Given the description of an element on the screen output the (x, y) to click on. 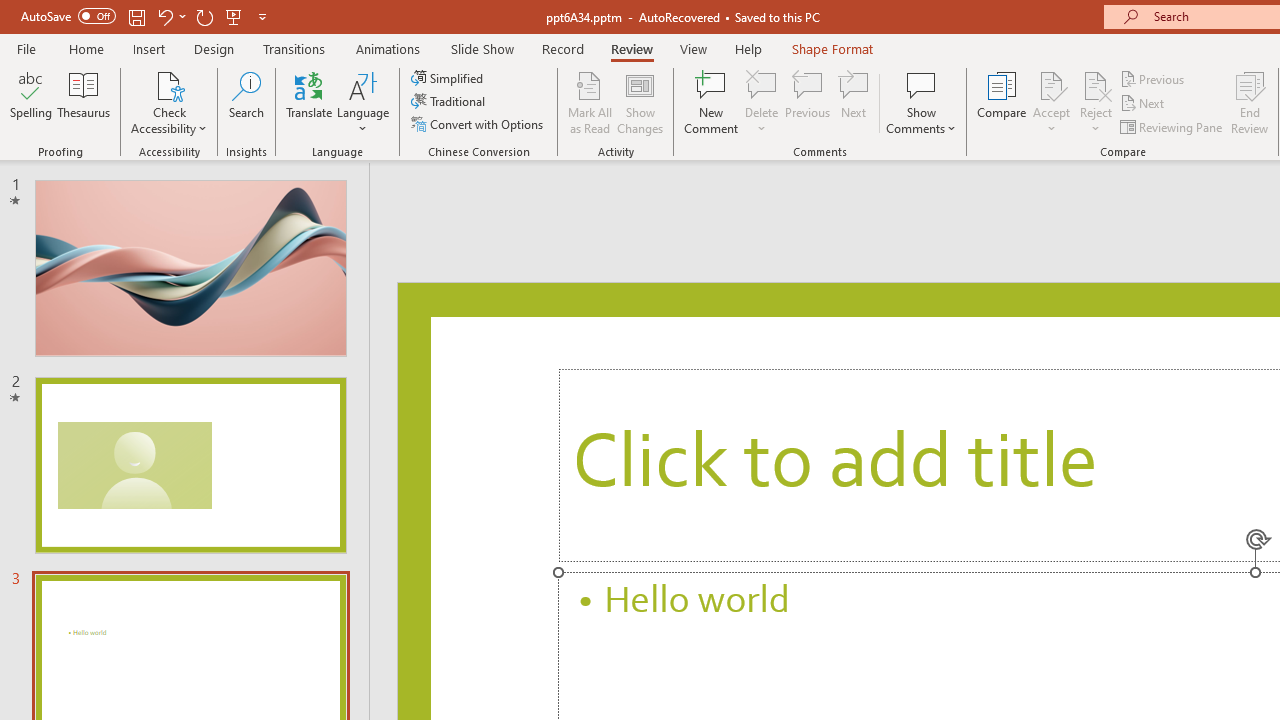
Traditional (449, 101)
Compare (1002, 102)
